Given the description of an element on the screen output the (x, y) to click on. 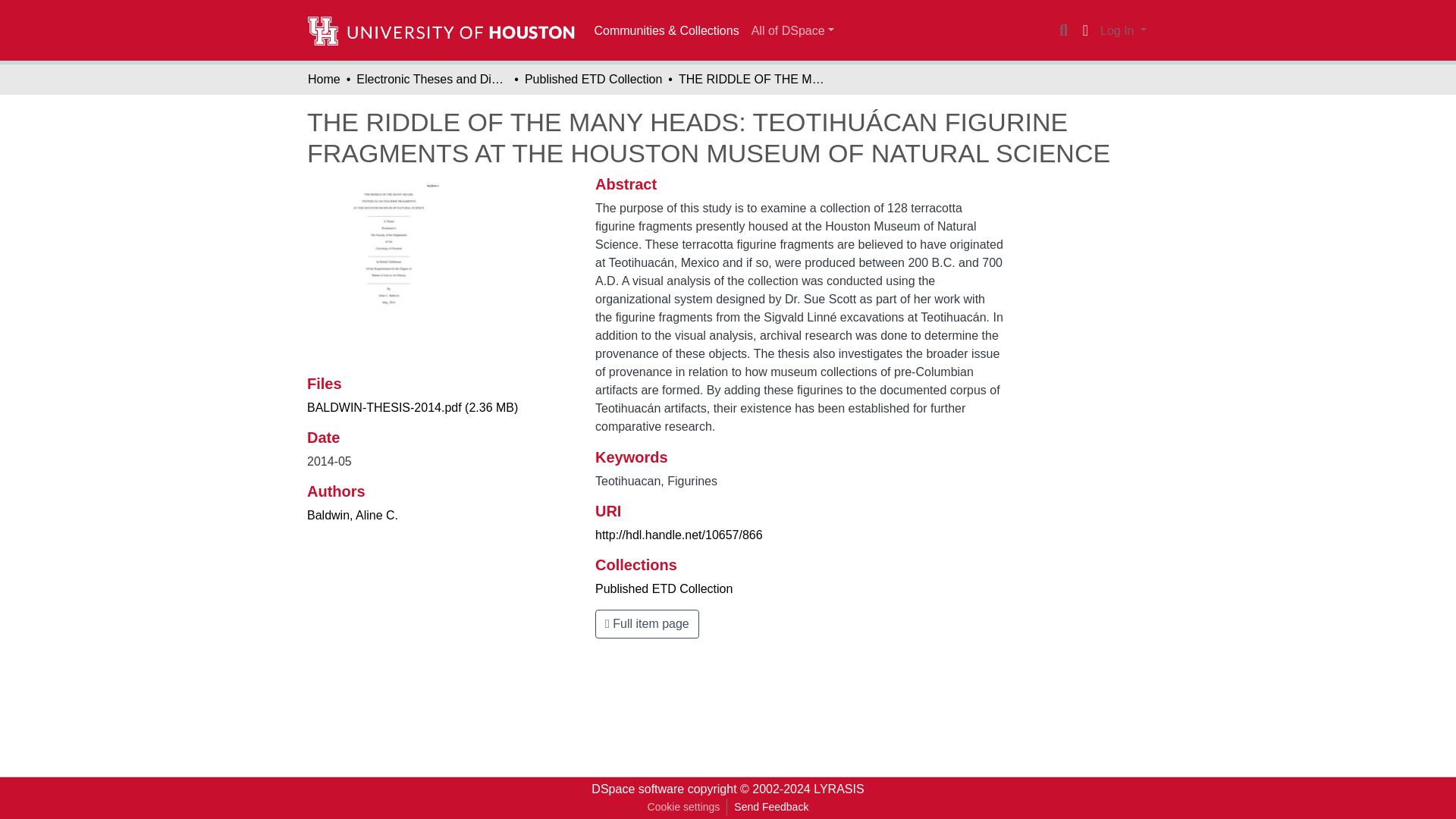
Baldwin, Aline C. (352, 514)
LYRASIS (838, 788)
Published ETD Collection (663, 588)
Send Feedback (770, 806)
DSpace software (637, 788)
All of DSpace (792, 30)
Search (1063, 30)
Published ETD Collection (593, 79)
Home (323, 79)
Log In (1122, 30)
Full item page (646, 623)
Language switch (1084, 30)
Cookie settings (683, 806)
